Given the description of an element on the screen output the (x, y) to click on. 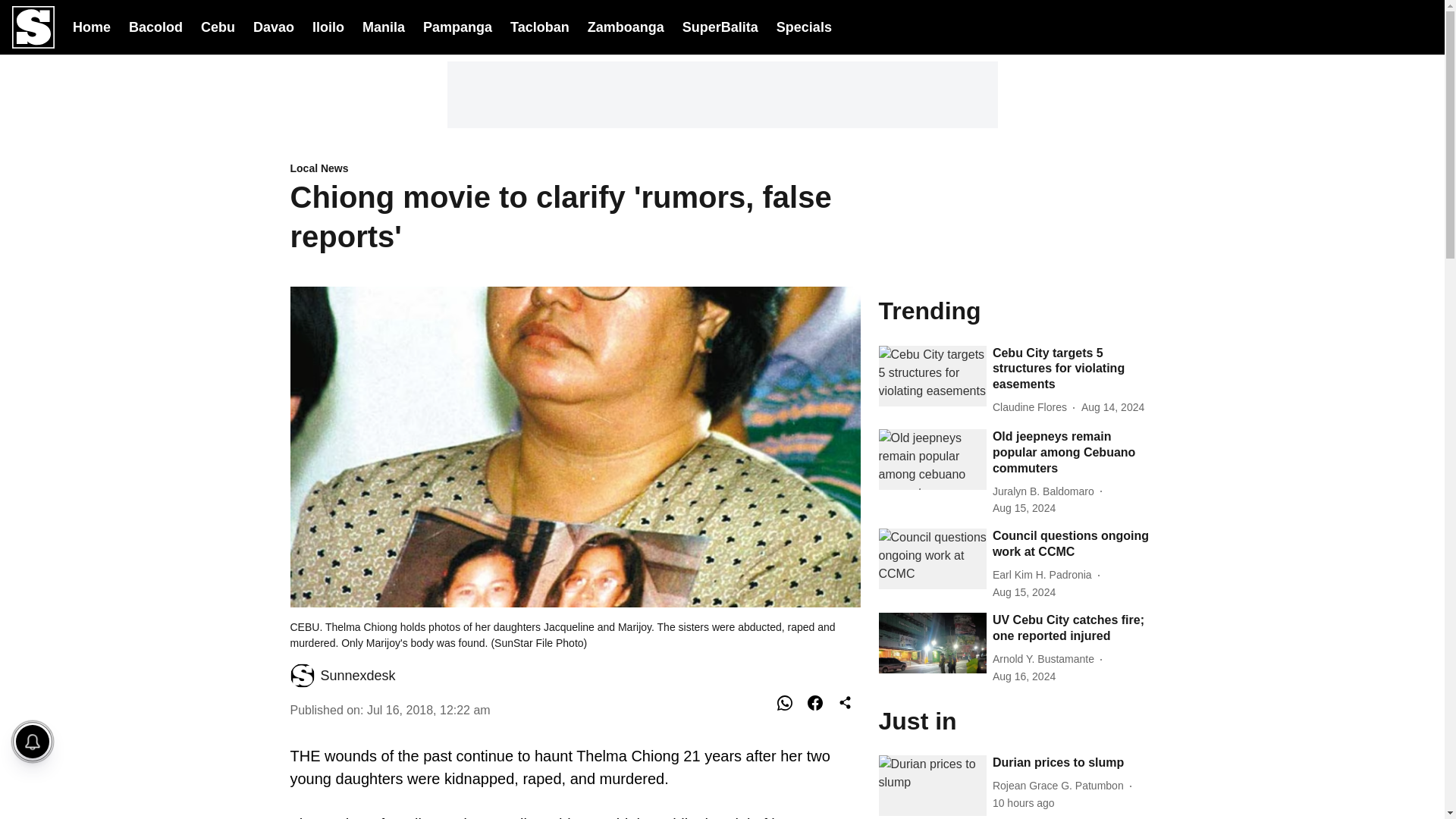
Pampanga (457, 26)
Iloilo (328, 26)
2024-08-15 15:10 (1023, 508)
2024-08-15 15:32 (1023, 592)
Home (91, 26)
SuperBalita (720, 27)
Claudine Flores (1032, 407)
Trending (1015, 309)
2024-08-14 12:24 (1112, 407)
Bacolod (156, 26)
